Given the description of an element on the screen output the (x, y) to click on. 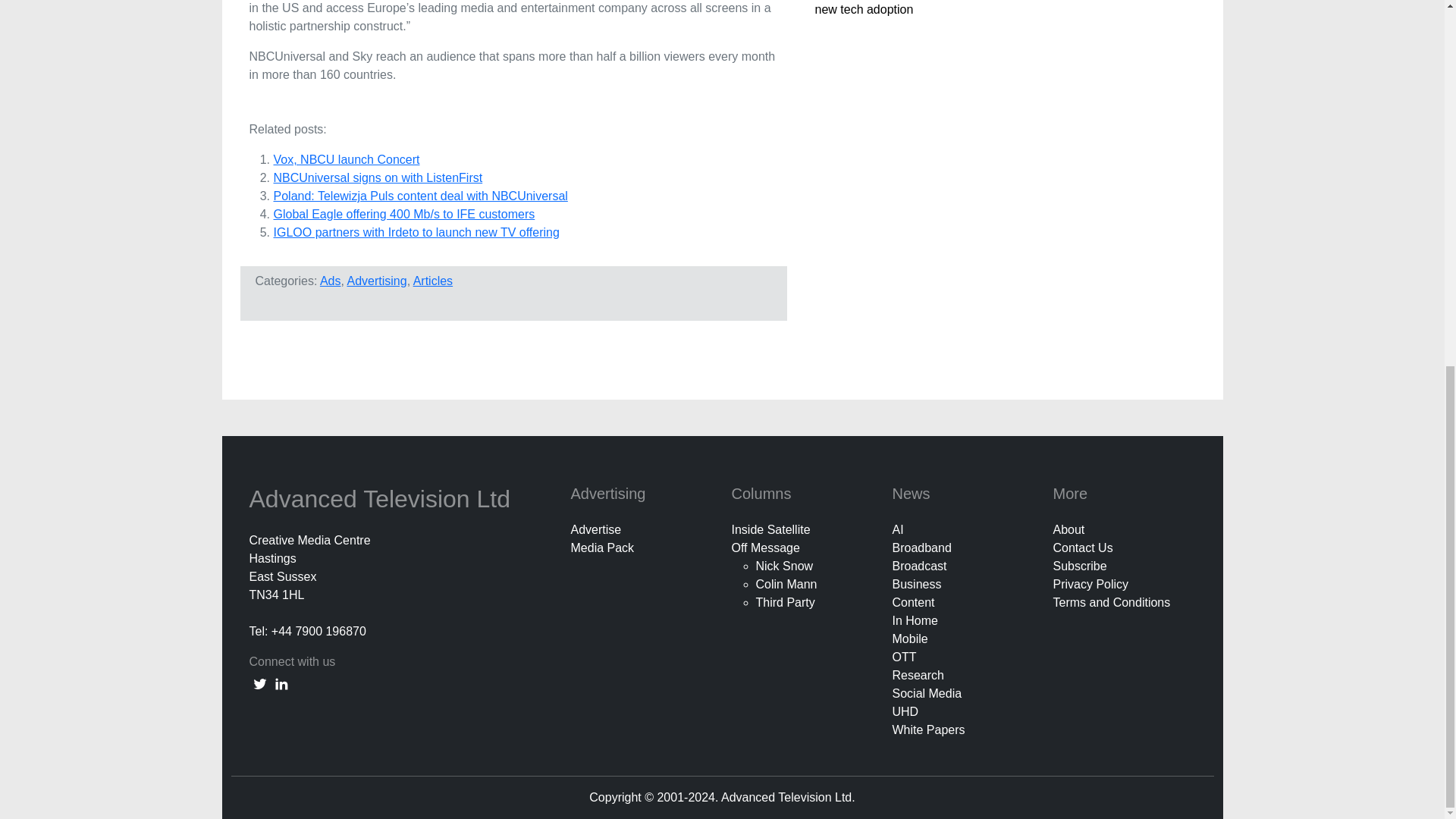
NBCUniversal signs on with ListenFirst (377, 177)
Ads (330, 280)
NBCUniversal signs on with ListenFirst (377, 177)
Vox, NBCU launch Concert (346, 159)
Articles (432, 280)
Media Pack (601, 547)
Poland: Telewizja Puls content deal with NBCUniversal (420, 195)
Poland: Telewizja Puls content deal with NBCUniversal (420, 195)
Forecast: Cheaper Wi-Fi 7 models to drive new tech adoption (927, 7)
Advertising (376, 280)
Vox, NBCU launch Concert (346, 159)
Advertise (595, 529)
Inside Satellite (769, 529)
IGLOO partners with Irdeto to launch new TV offering (416, 232)
Advanced Television Ltd  (382, 498)
